Given the description of an element on the screen output the (x, y) to click on. 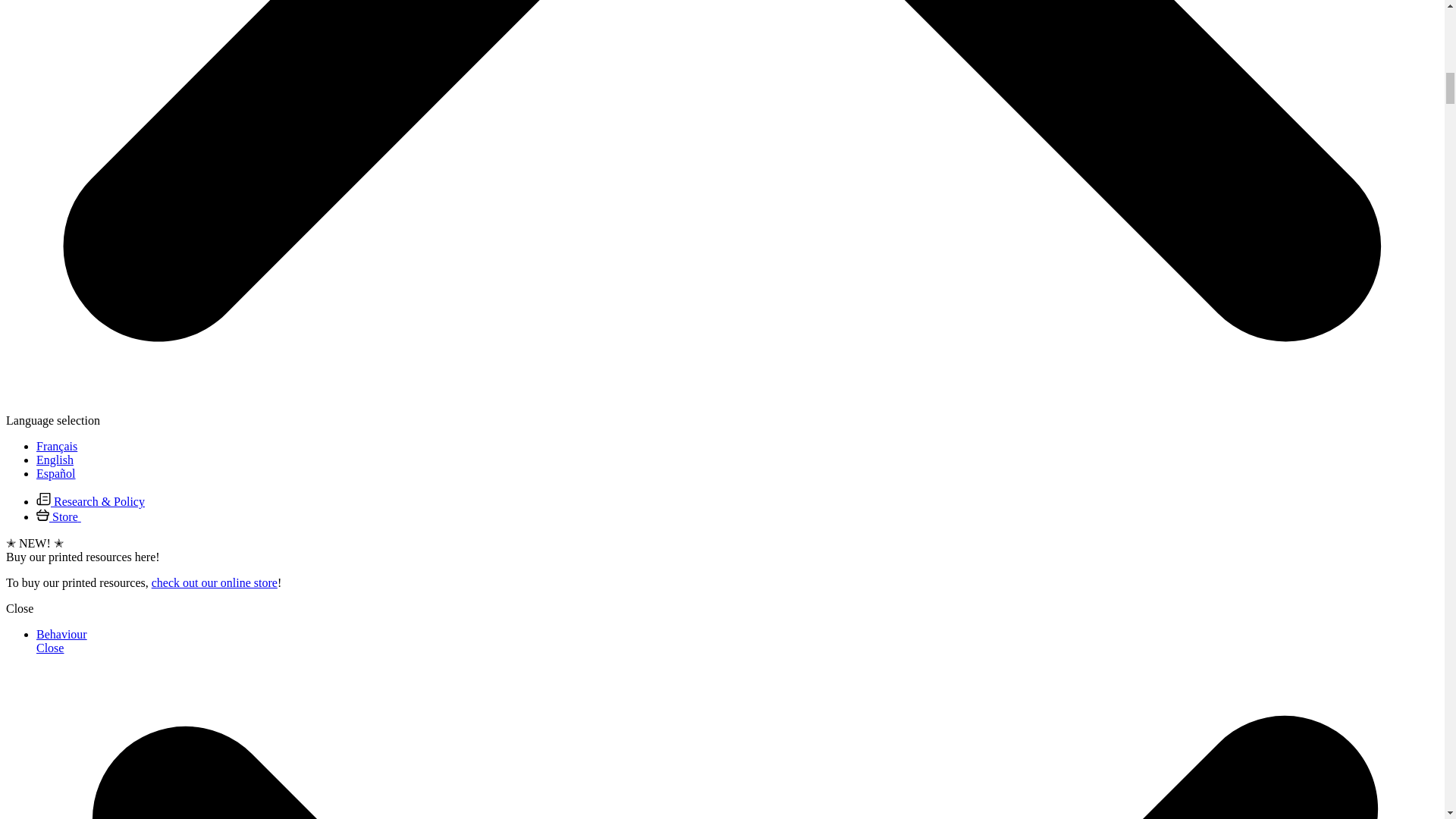
Store (60, 516)
check out our online store (214, 582)
Close (19, 608)
Behaviour (61, 634)
English (55, 459)
